Given the description of an element on the screen output the (x, y) to click on. 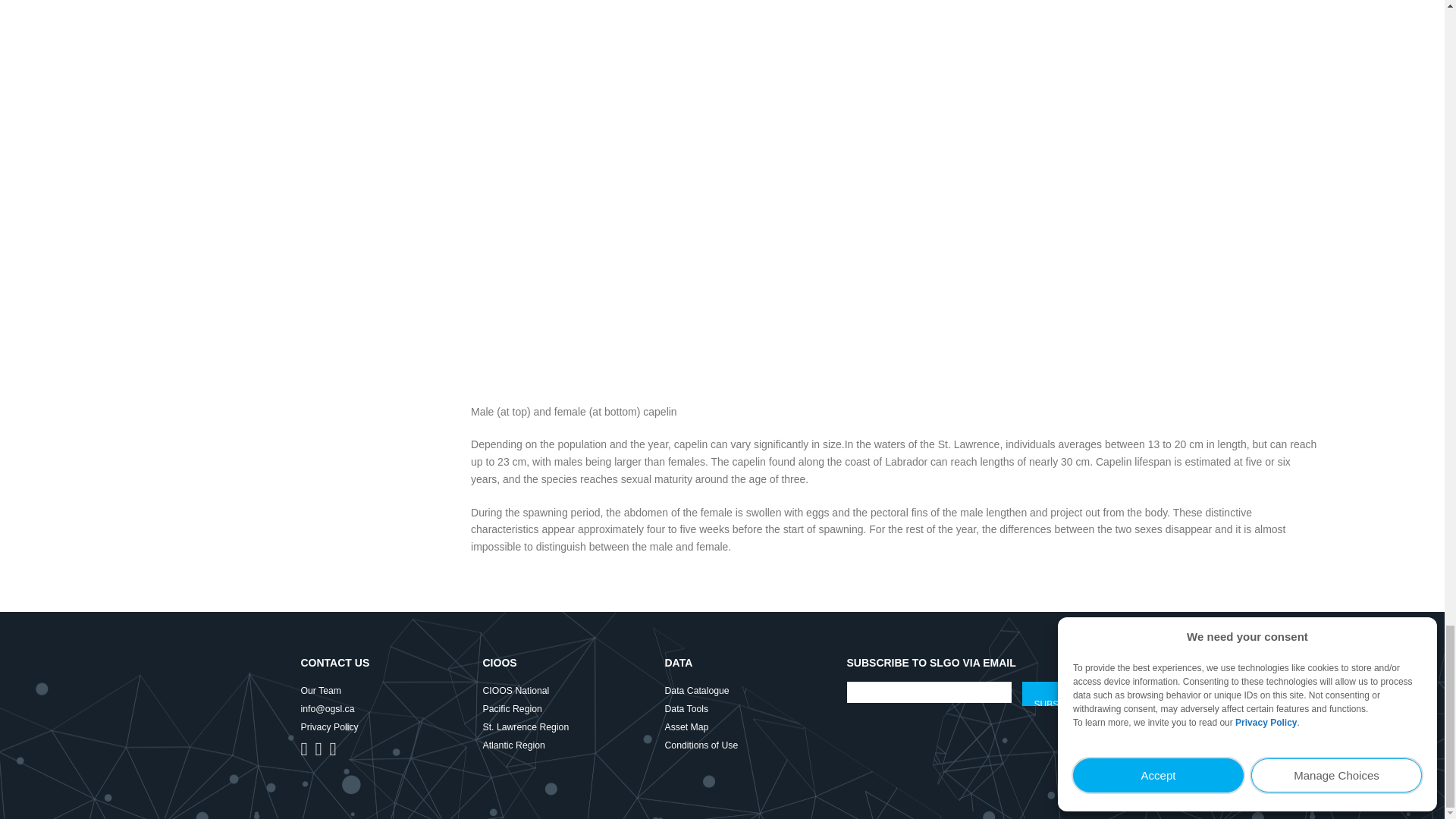
Subscribe (1060, 693)
